Given the description of an element on the screen output the (x, y) to click on. 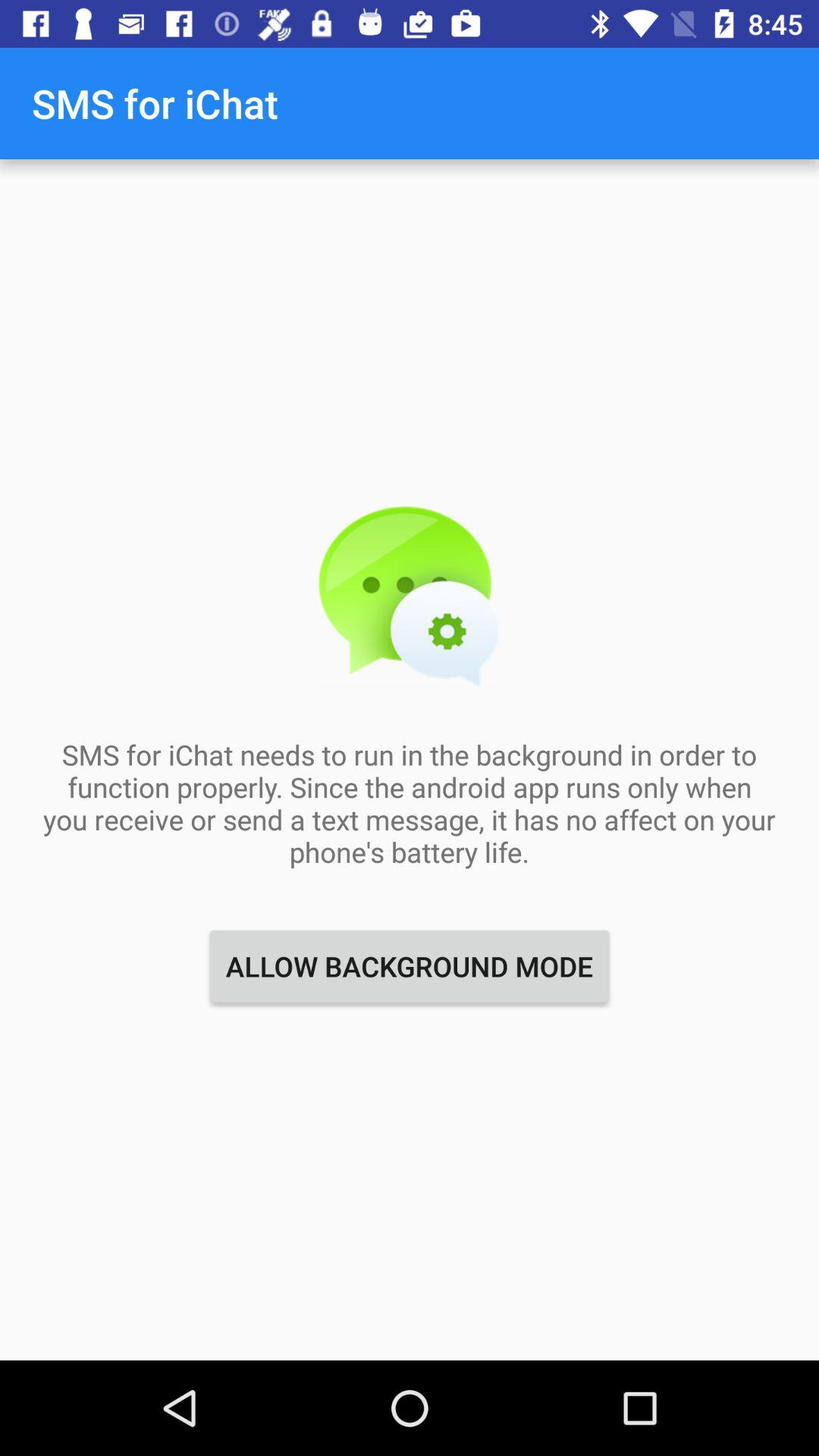
select the allow background mode item (409, 966)
